Given the description of an element on the screen output the (x, y) to click on. 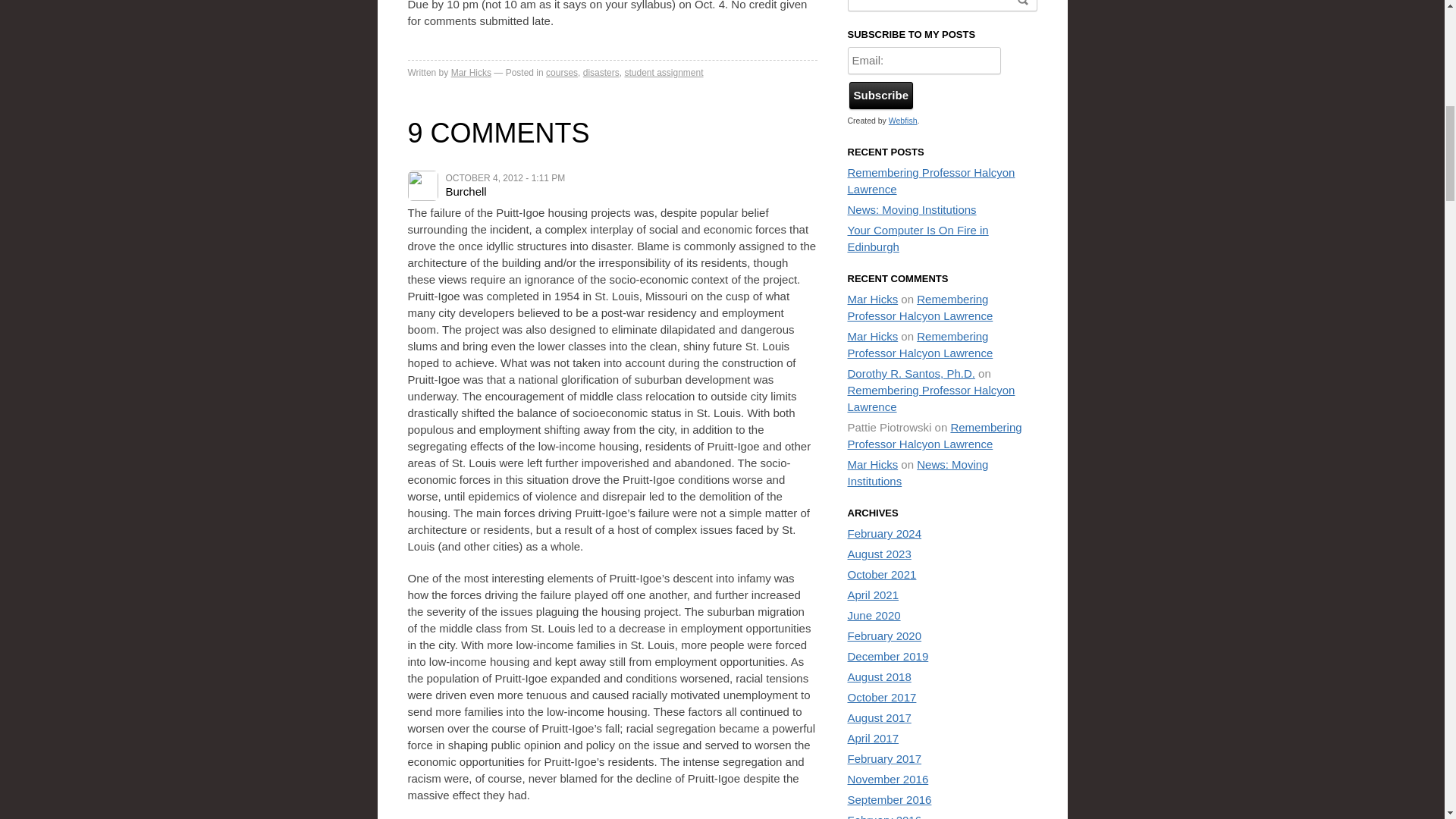
Mar Hicks (471, 72)
Subscribe (881, 94)
Posts by Mar Hicks (471, 72)
courses (562, 72)
disasters (601, 72)
OCTOBER 4, 2012 - 1:11 PM (505, 177)
Search (1022, 4)
student assignment (663, 72)
